Given the description of an element on the screen output the (x, y) to click on. 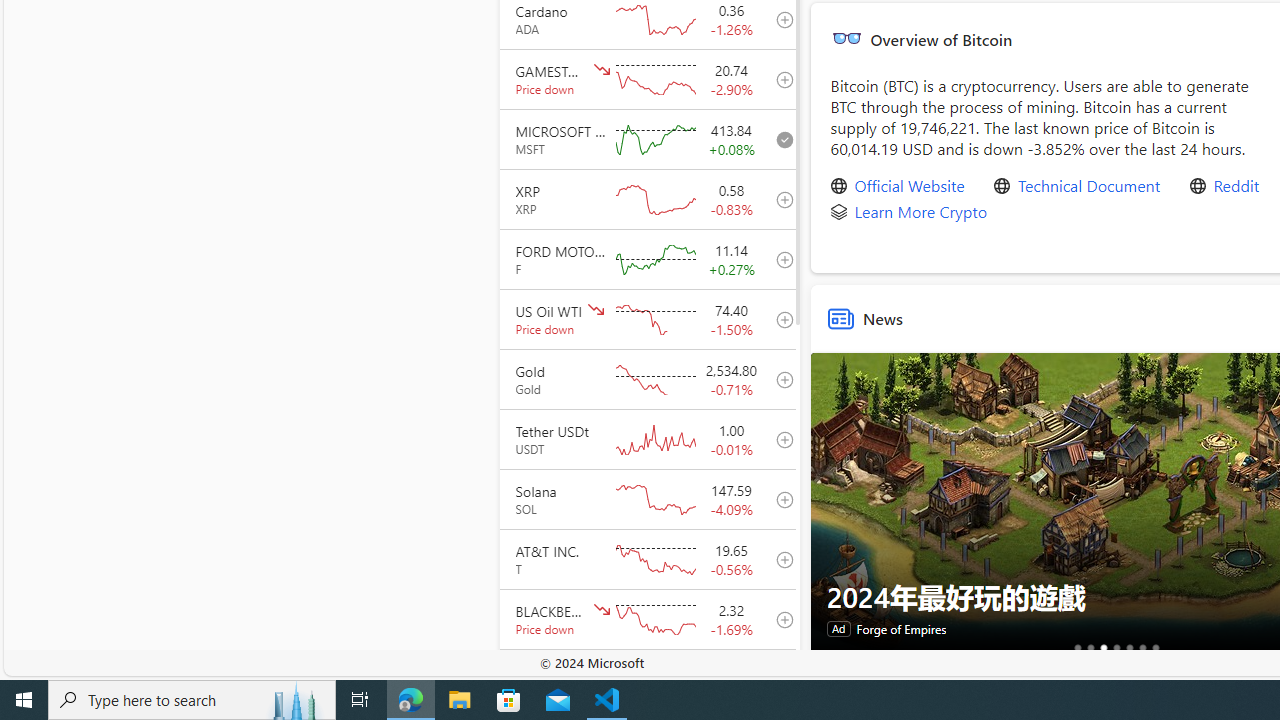
Reddit (1236, 185)
add to your watchlist (779, 678)
